Given the description of an element on the screen output the (x, y) to click on. 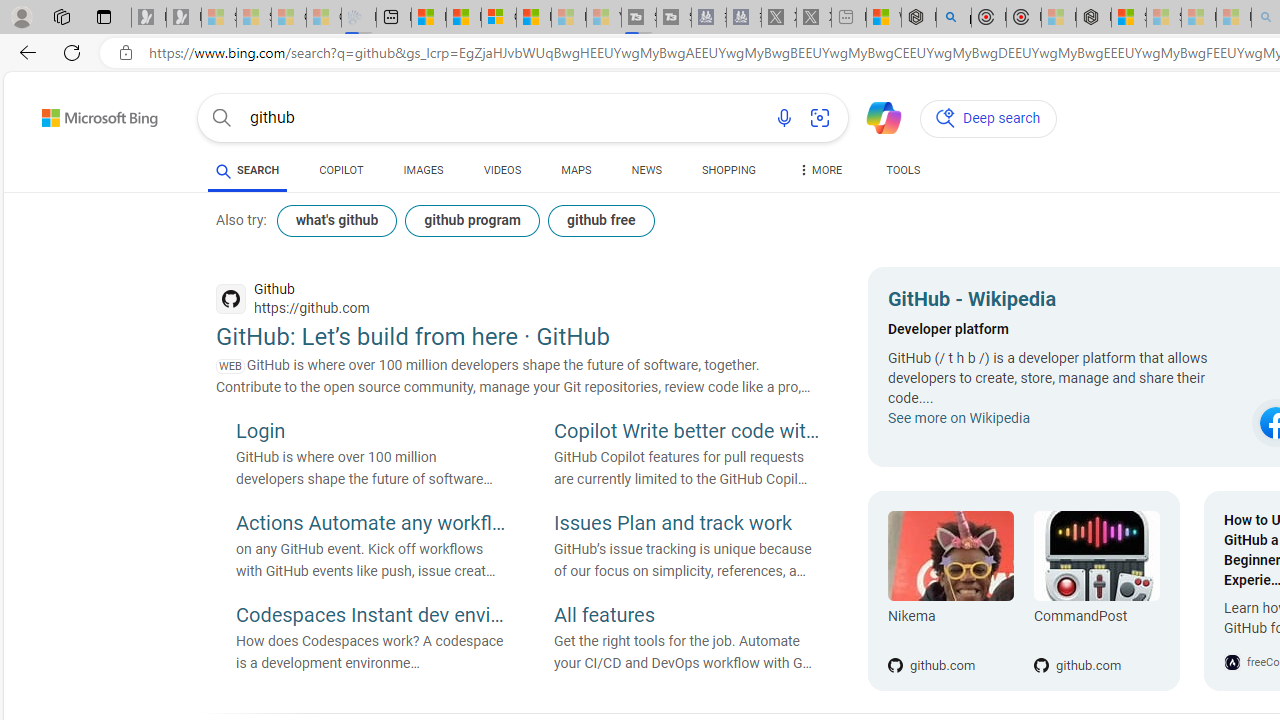
GitHub - Wikipedia (1064, 302)
Actions Automate any workflow (370, 525)
Search using an image (820, 117)
github.com (1096, 632)
Search button (221, 117)
Codespaces Instant dev environments (370, 616)
Chat (875, 116)
COPILOT (341, 173)
Dropdown Menu (819, 170)
CommandPost (1096, 556)
